Given the description of an element on the screen output the (x, y) to click on. 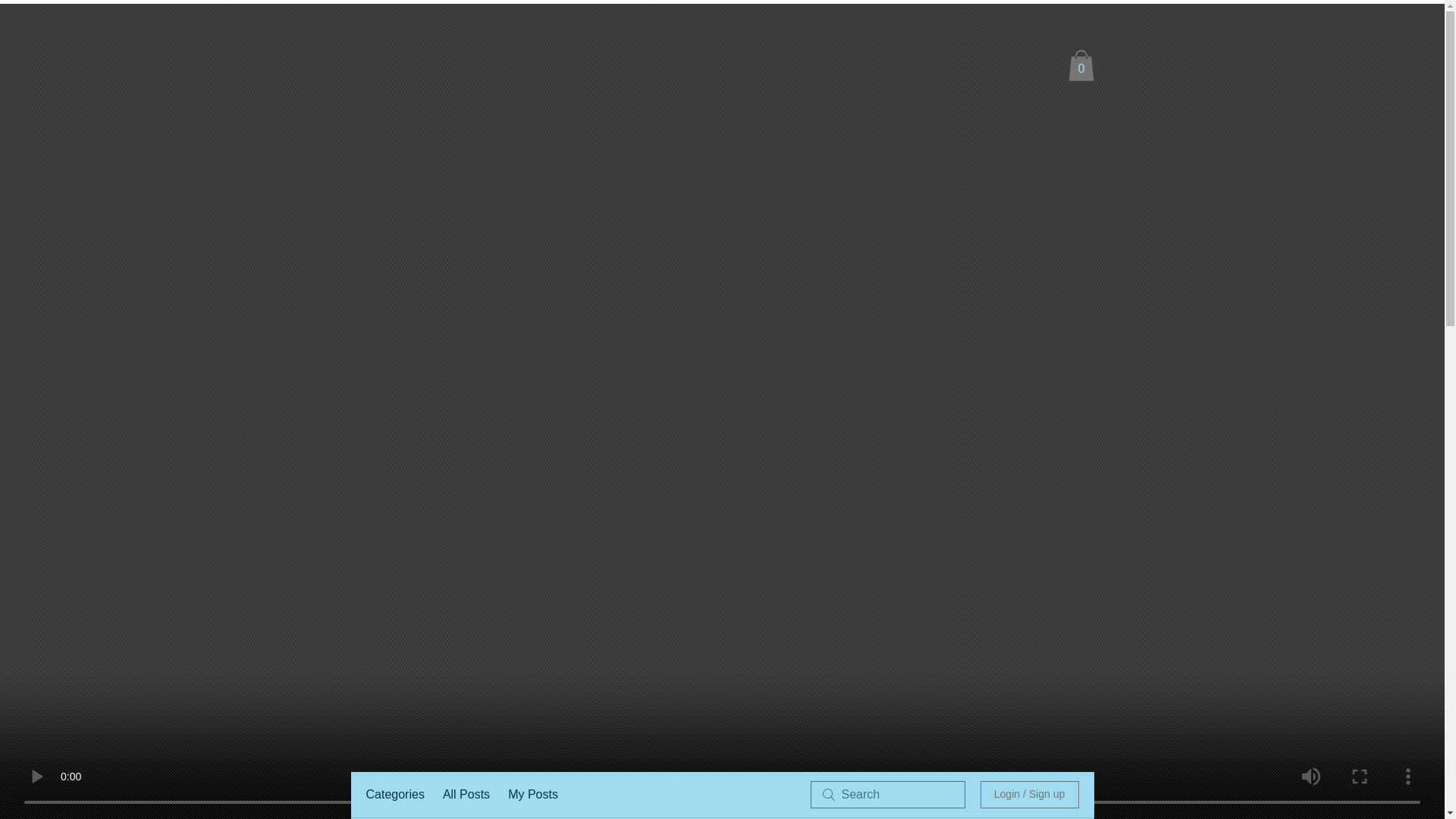
All Posts (465, 794)
Categories (394, 794)
My Posts (532, 794)
